Given the description of an element on the screen output the (x, y) to click on. 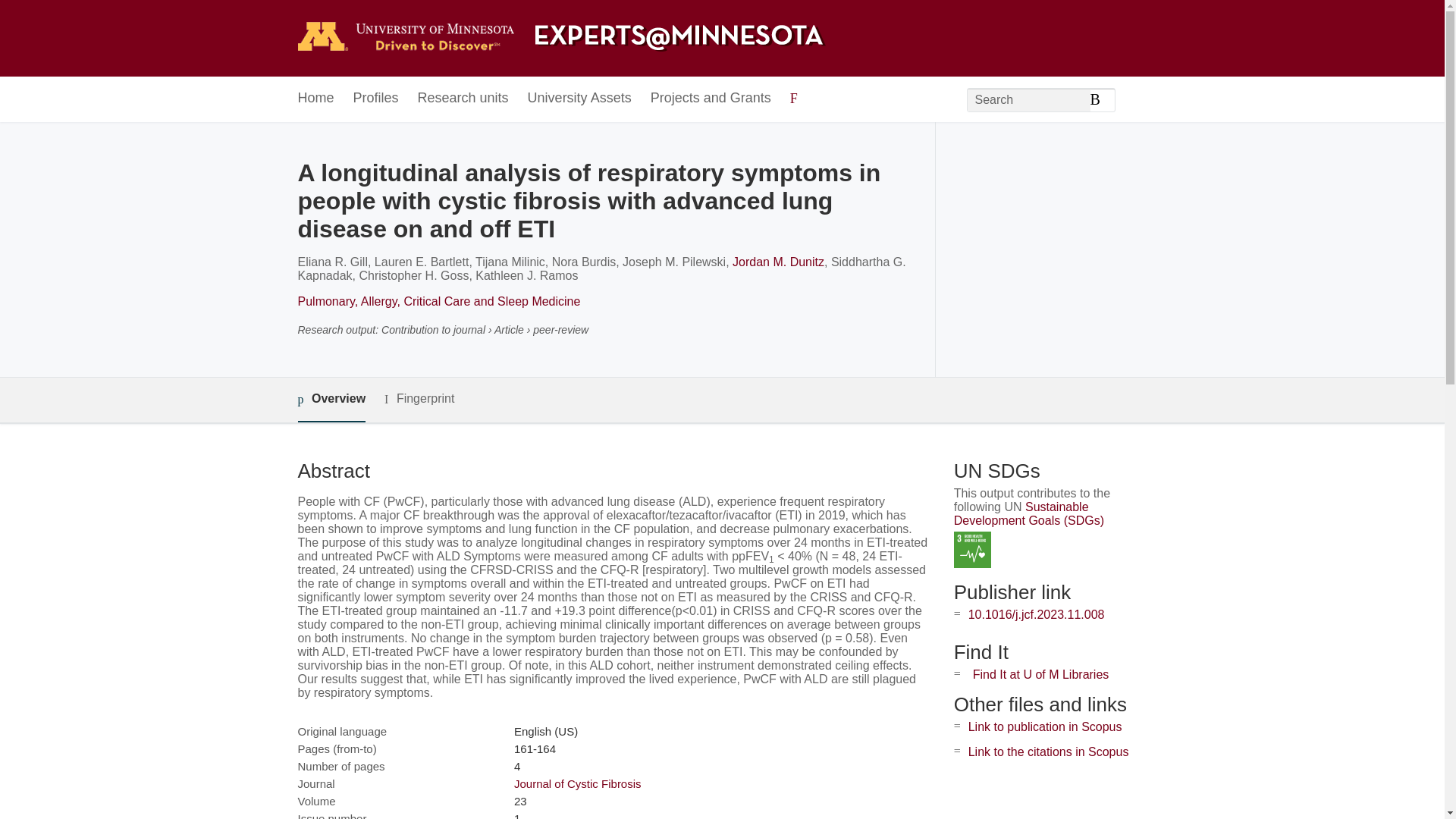
Projects and Grants (710, 98)
SDG 3 - Good Health and Well-being (972, 549)
Link to the citations in Scopus (1048, 751)
Profiles (375, 98)
Find It at U of M Libraries (1040, 674)
Journal of Cystic Fibrosis (577, 783)
Link to publication in Scopus (1045, 726)
Research units (462, 98)
Overview (331, 399)
Pulmonary, Allergy, Critical Care and Sleep Medicine (438, 300)
University Assets (579, 98)
Jordan M. Dunitz (778, 261)
Fingerprint (419, 398)
